Given the description of an element on the screen output the (x, y) to click on. 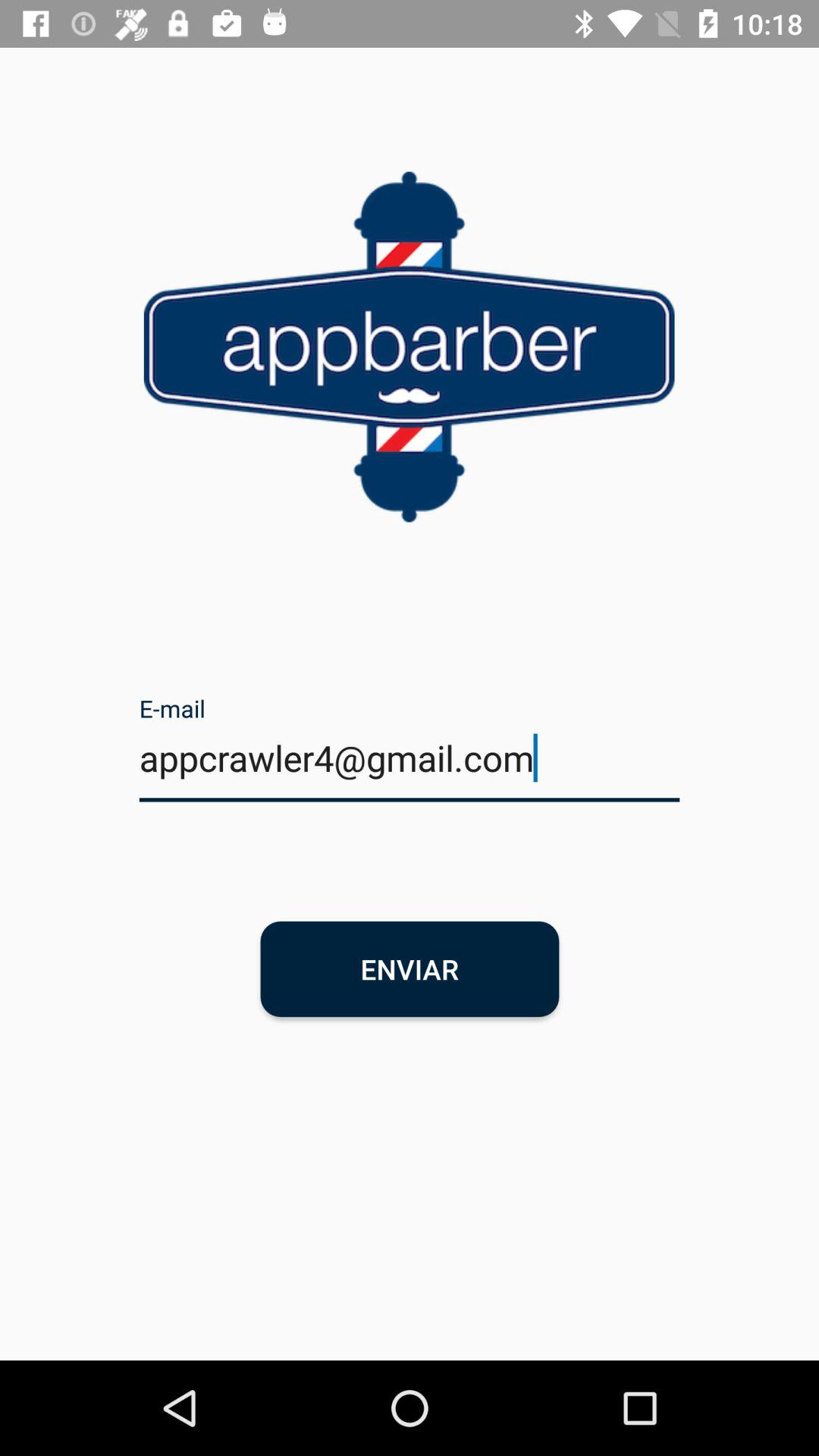
tap icon above the enviar (409, 767)
